Given the description of an element on the screen output the (x, y) to click on. 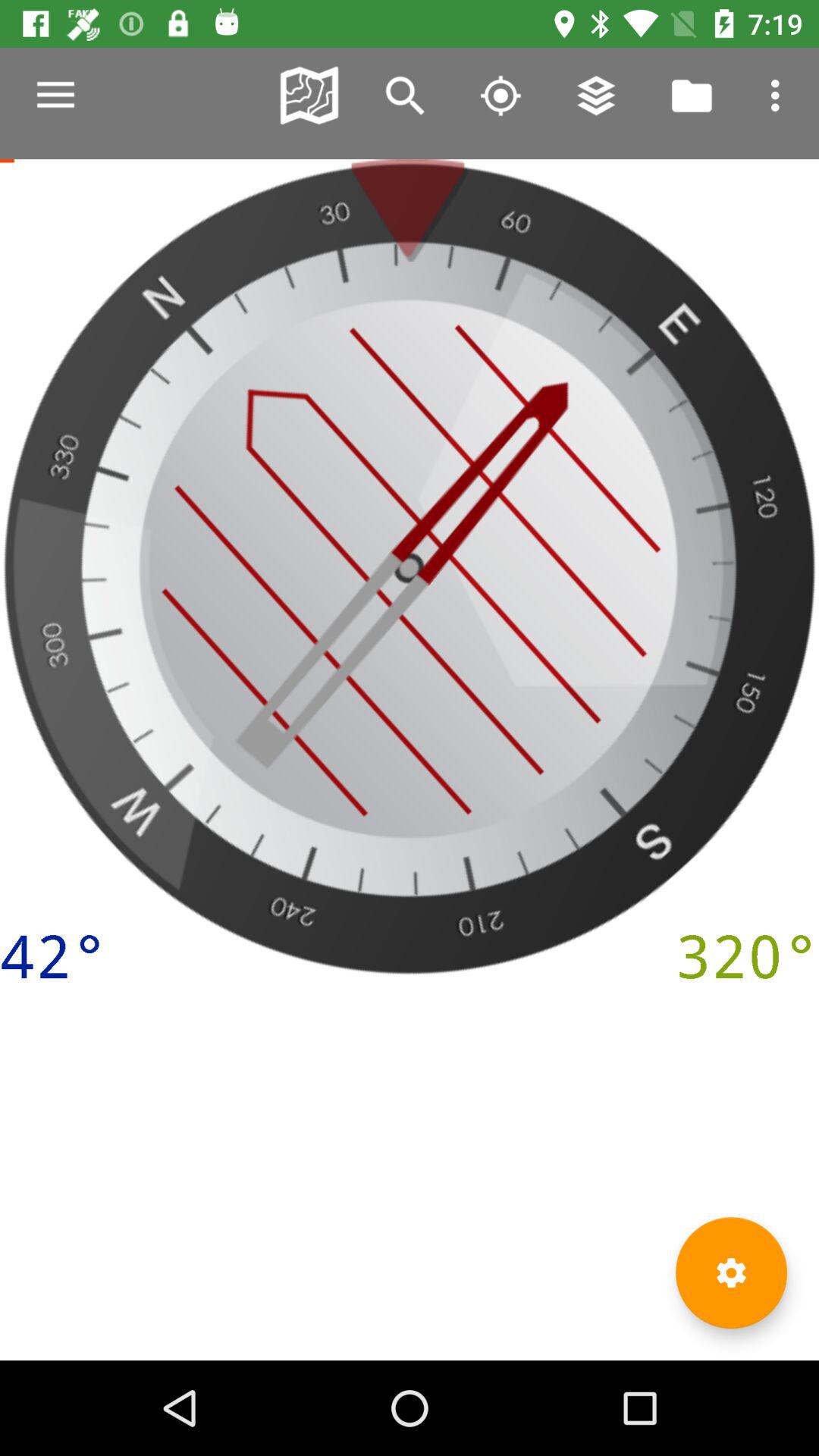
click the option which is on left of the search icon (309, 95)
click on the first option from the right top (779, 95)
